Given the description of an element on the screen output the (x, y) to click on. 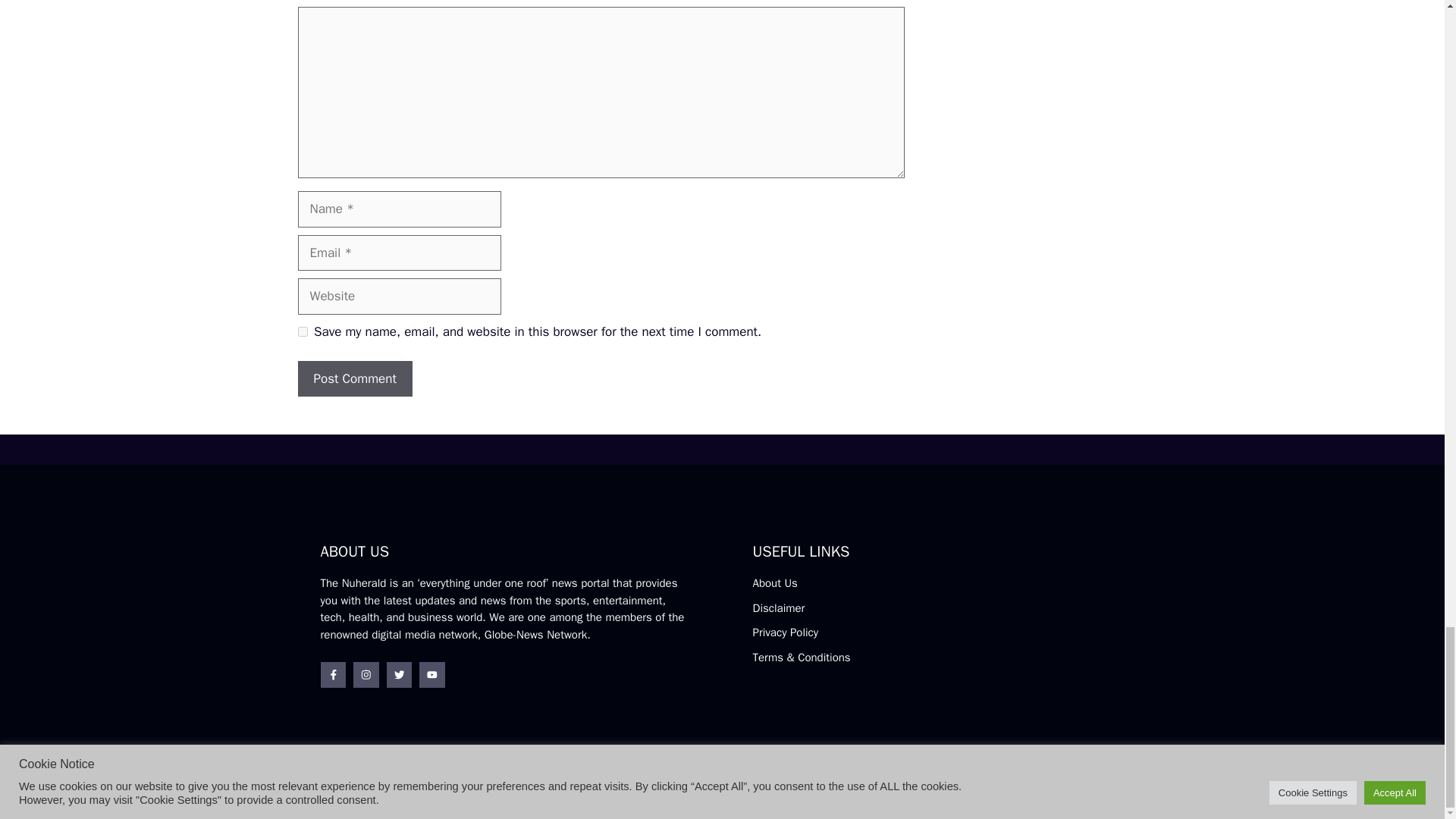
About Us (774, 582)
Disclaimer (778, 608)
Advertise (1032, 790)
yes (302, 331)
Post Comment (354, 379)
Privacy Policy (785, 632)
Contact Us (1096, 791)
Post Comment (354, 379)
